Given the description of an element on the screen output the (x, y) to click on. 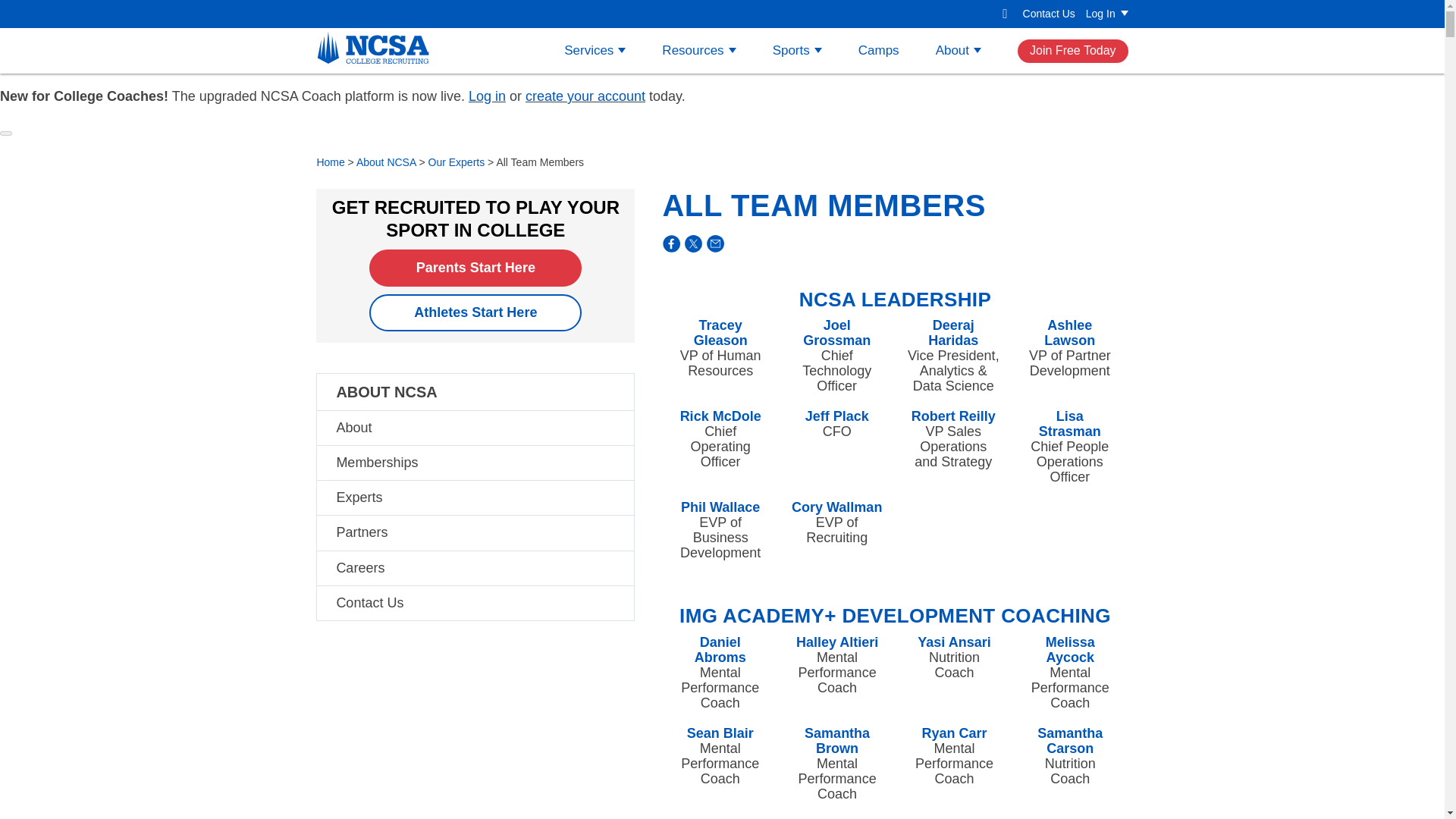
Services (595, 50)
Log in (486, 96)
Contact Us (1049, 13)
Share via Facebook (669, 241)
X (693, 243)
Home (372, 50)
Sports (797, 50)
Log In (1107, 13)
Resources (698, 50)
Share via X (691, 241)
Gmail (715, 243)
create your account (585, 96)
Share via Email (713, 241)
